Given the description of an element on the screen output the (x, y) to click on. 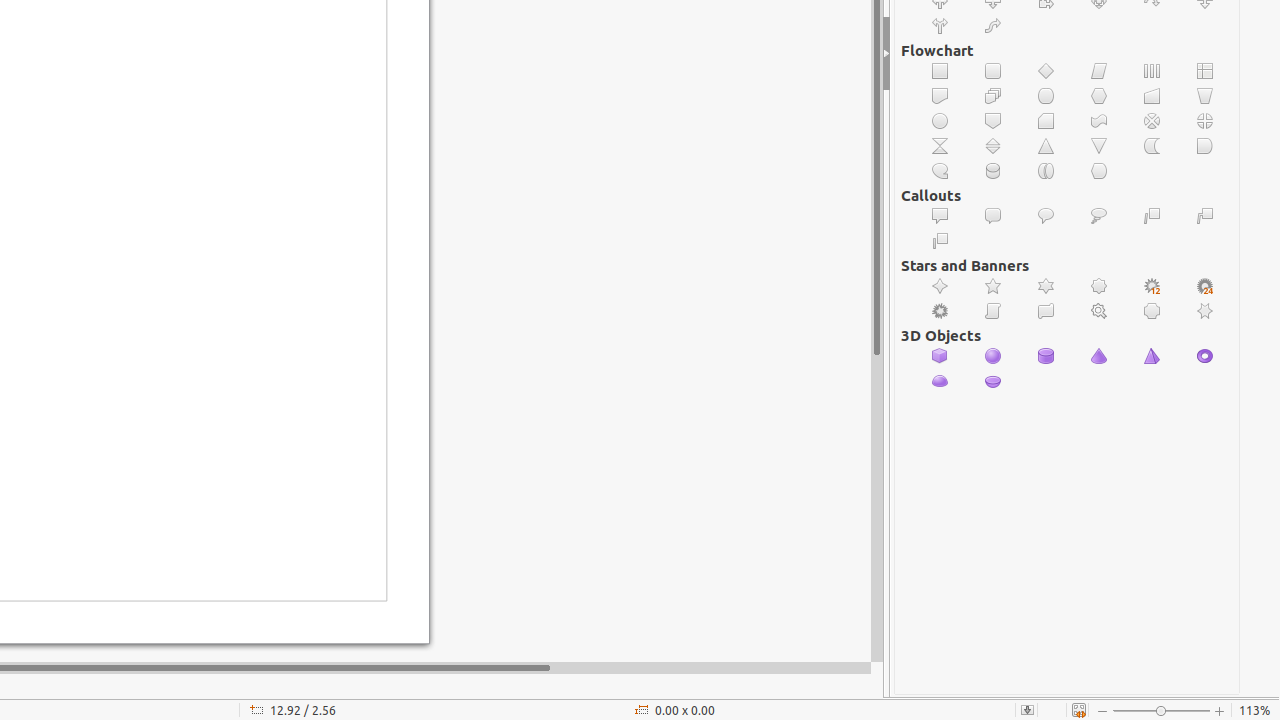
Flowchart: Decision Element type: list-item (1046, 71)
Signet Element type: list-item (1099, 311)
Cylinder Element type: list-item (1046, 356)
Flowchart: Direct Access Storage Element type: list-item (1046, 171)
Half-Sphere Element type: list-item (993, 381)
